Given the description of an element on the screen output the (x, y) to click on. 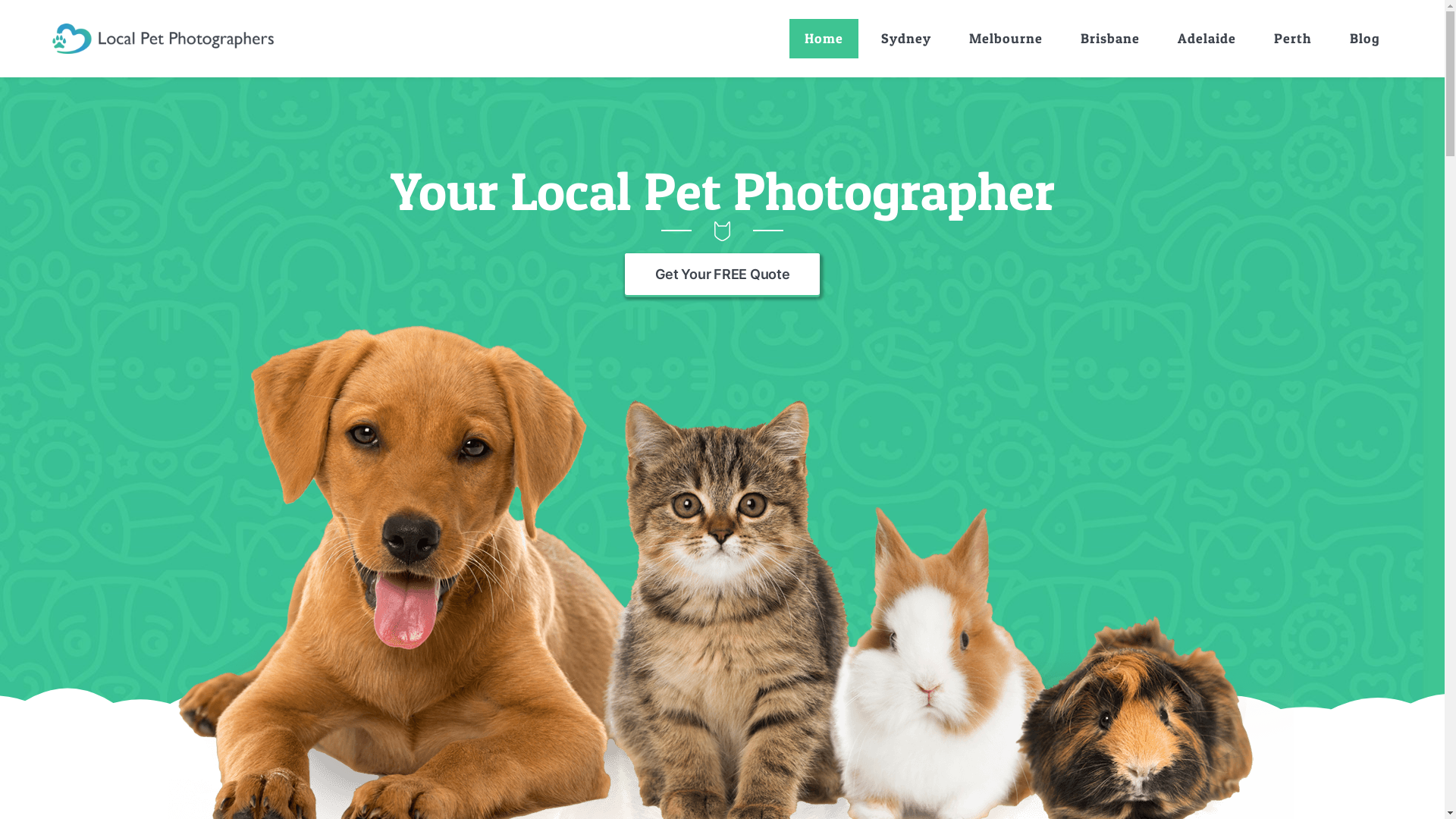
Perth Element type: text (1292, 38)
Sydney Element type: text (906, 38)
Melbourne Element type: text (1005, 38)
line_separator Element type: hover (722, 231)
Brisbane Element type: text (1109, 38)
Blog Element type: text (1364, 38)
Adelaide Element type: text (1206, 38)
Get Your FREE Quote Element type: text (722, 273)
Home Element type: text (823, 38)
